Given the description of an element on the screen output the (x, y) to click on. 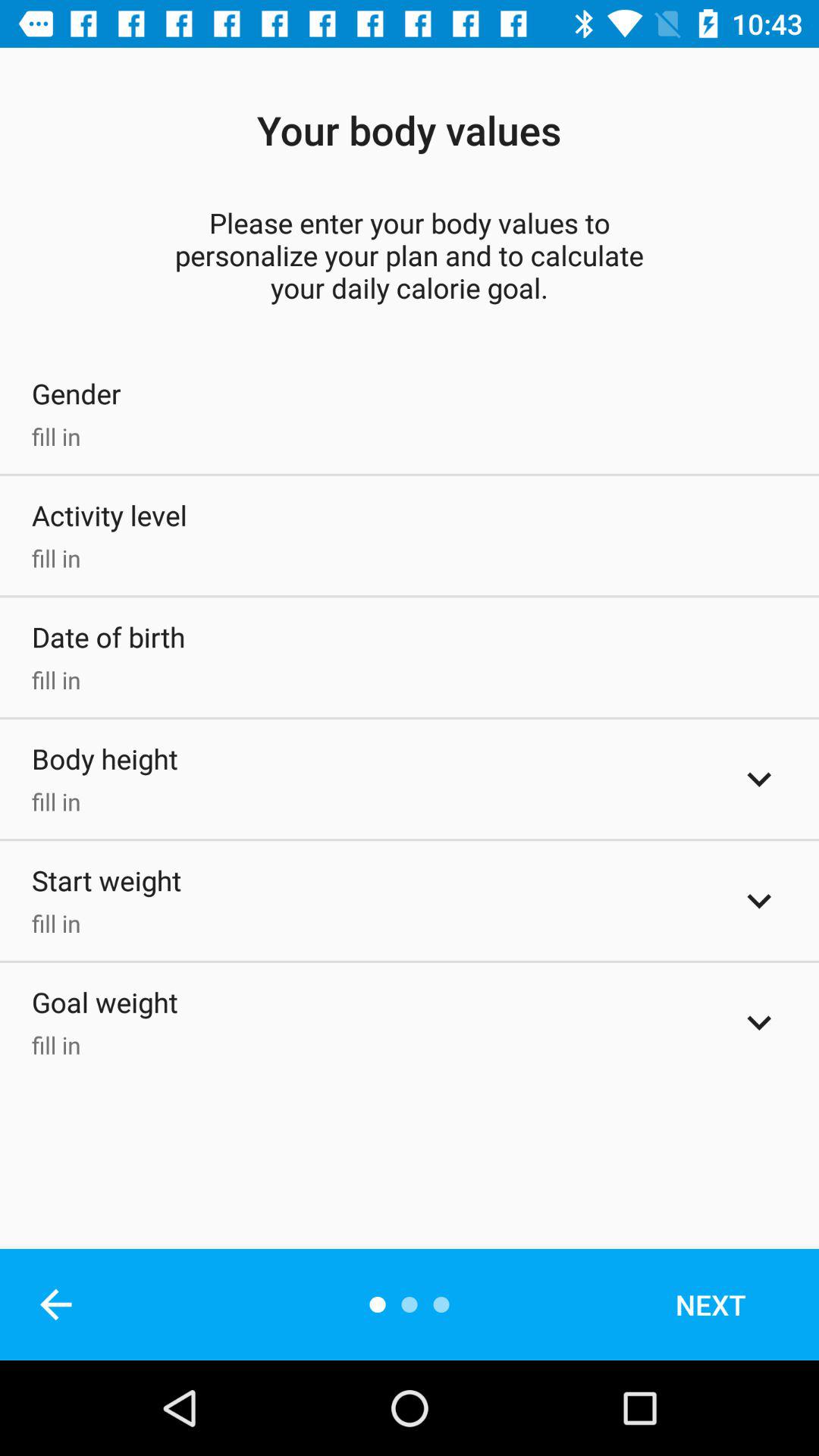
view options (759, 900)
